Given the description of an element on the screen output the (x, y) to click on. 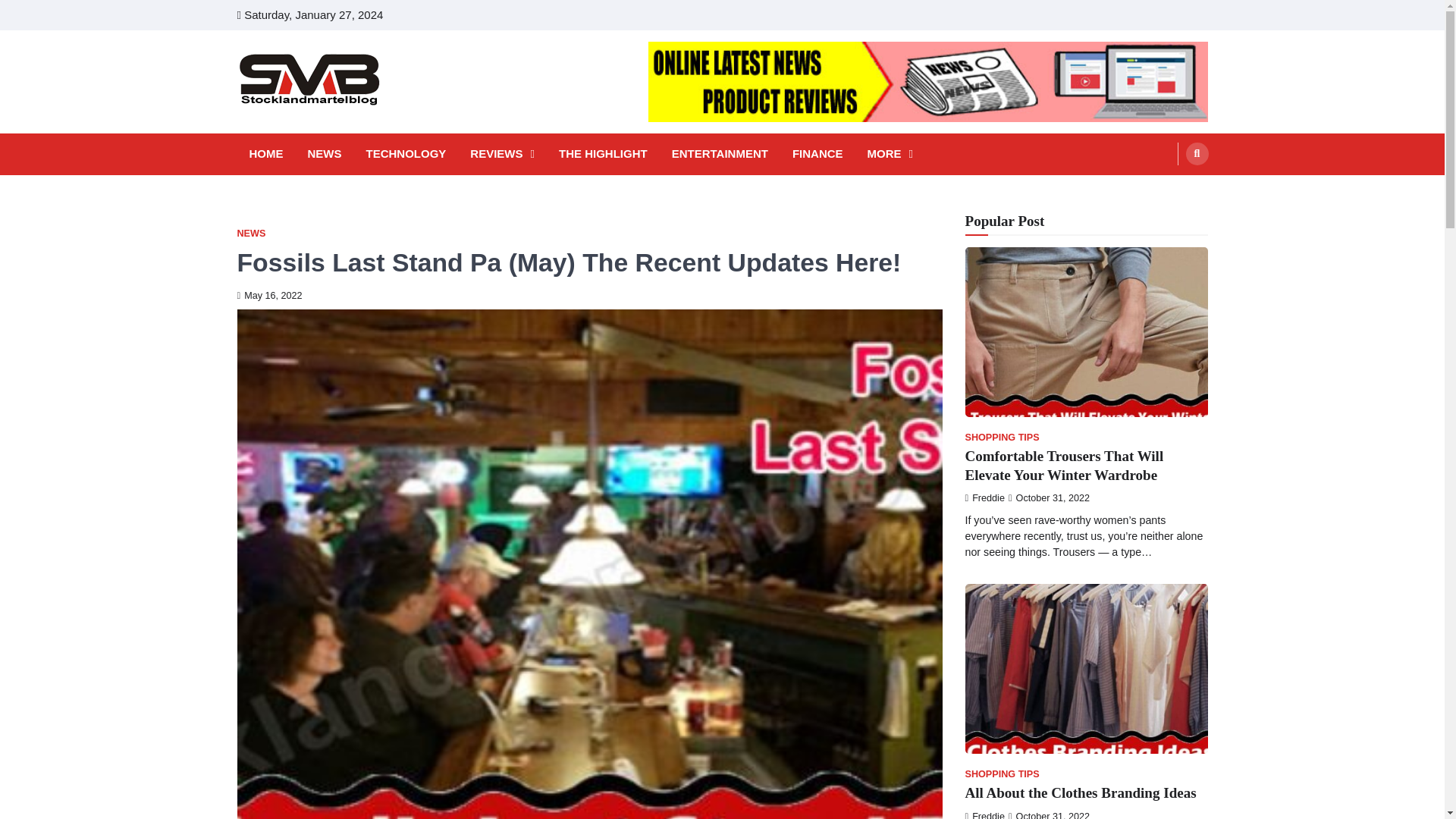
MORE (889, 153)
NEWS (324, 153)
HOME (265, 153)
FINANCE (817, 153)
REVIEWS (502, 153)
ENTERTAINMENT (719, 153)
THE HIGHLIGHT (603, 153)
TECHNOLOGY (405, 153)
Search (1168, 189)
NEWS (249, 233)
Search (1197, 153)
May 16, 2022 (268, 295)
SHOPPING TIPS (1001, 437)
